Given the description of an element on the screen output the (x, y) to click on. 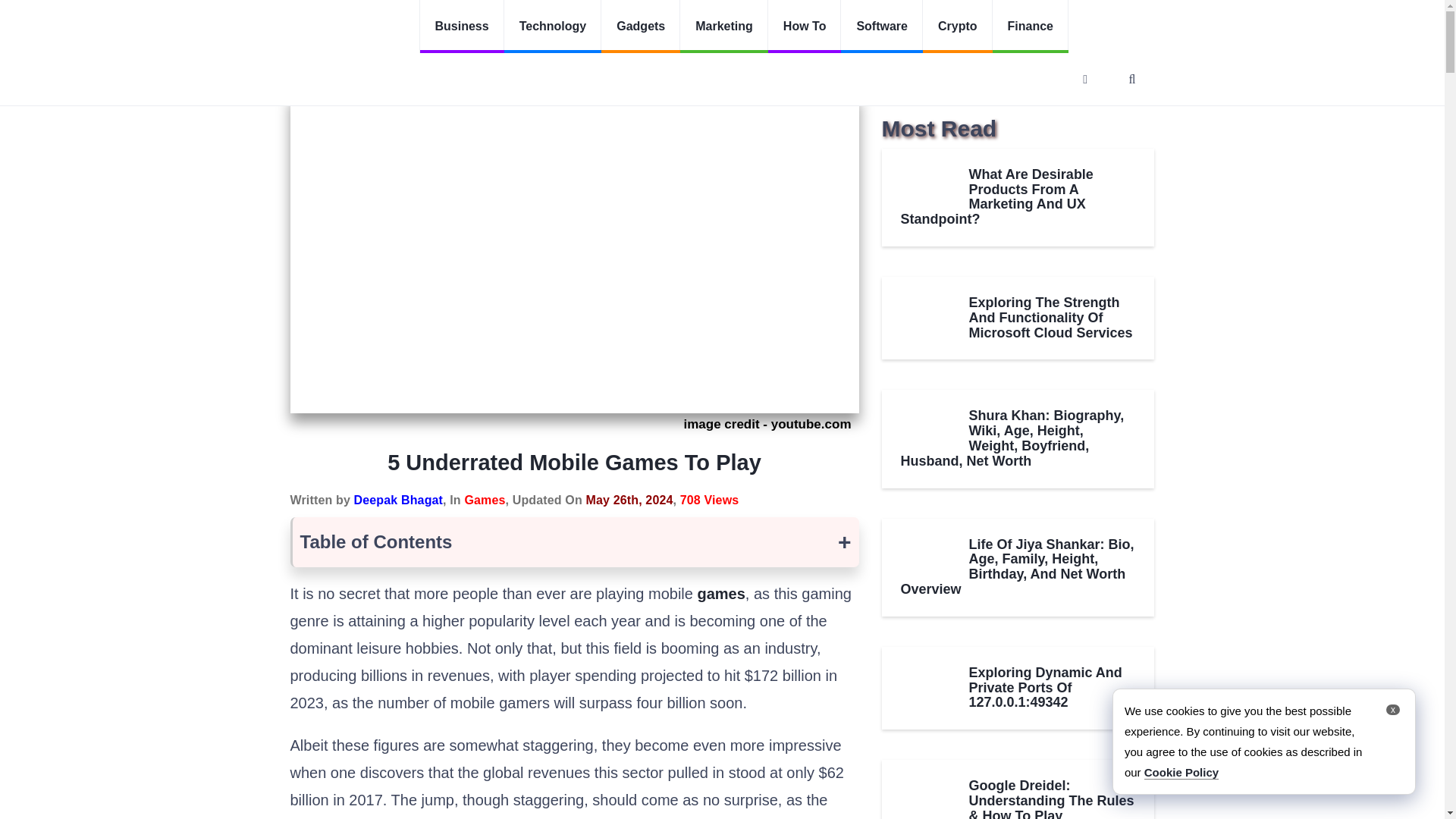
How To (804, 26)
Technology (552, 26)
Software (882, 26)
Tech Behind It (346, 43)
5 Underrated Mobile Games To Play (478, 72)
Games (484, 499)
Games (357, 72)
Business (461, 26)
Gadgets (640, 26)
